Given the description of an element on the screen output the (x, y) to click on. 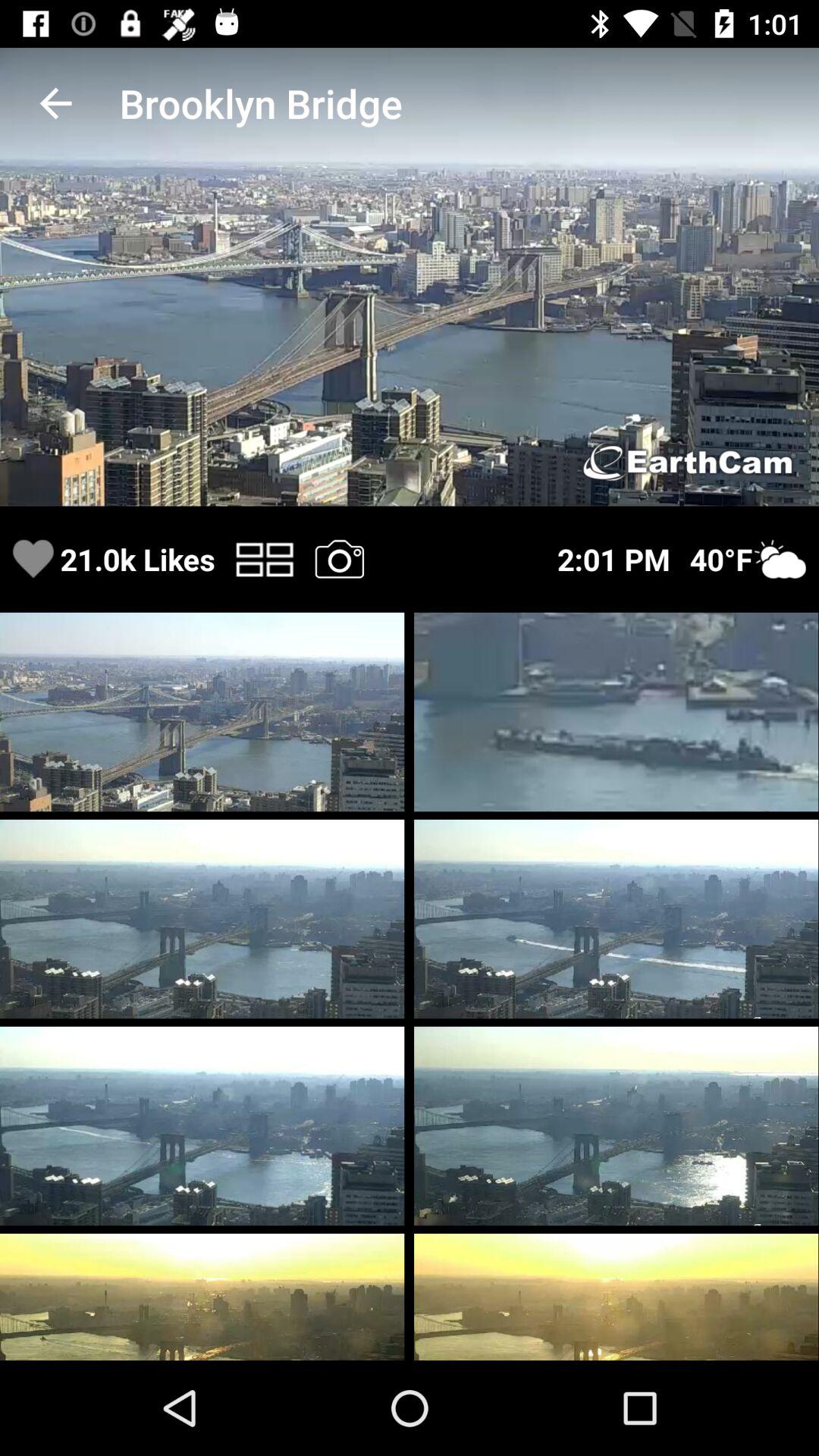
option (339, 558)
